Given the description of an element on the screen output the (x, y) to click on. 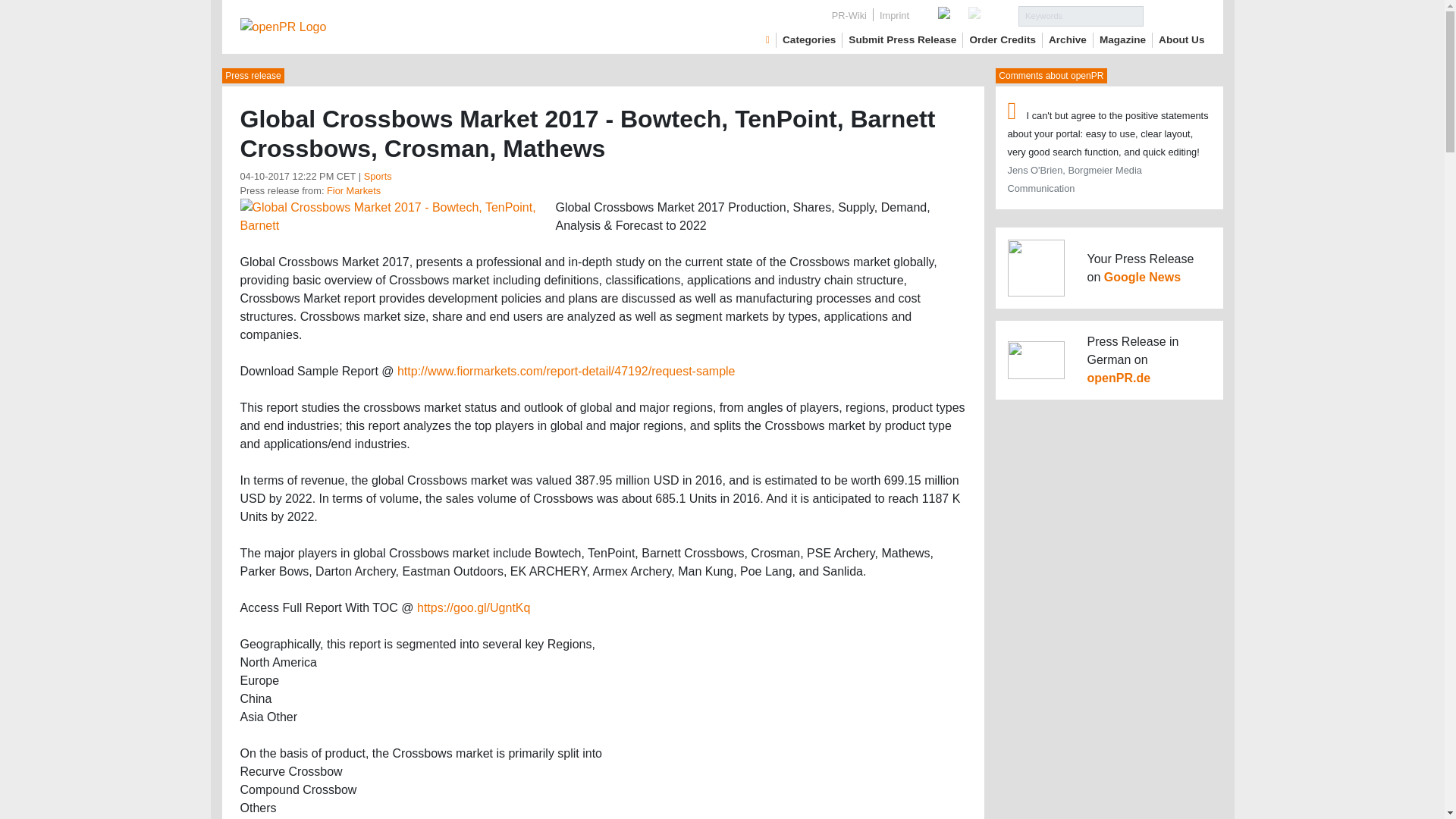
Sports (377, 175)
Categories (809, 39)
archive und pressrelease of Fior Markets (353, 190)
Submit Press Release (902, 39)
Global Crossbows Market 2017 - Bowtech, TenPoint, Barnett (391, 215)
Magazine (1122, 39)
Imprint (894, 15)
PR-Wiki (848, 15)
Search   (1173, 15)
Order Credits (1002, 39)
